Given the description of an element on the screen output the (x, y) to click on. 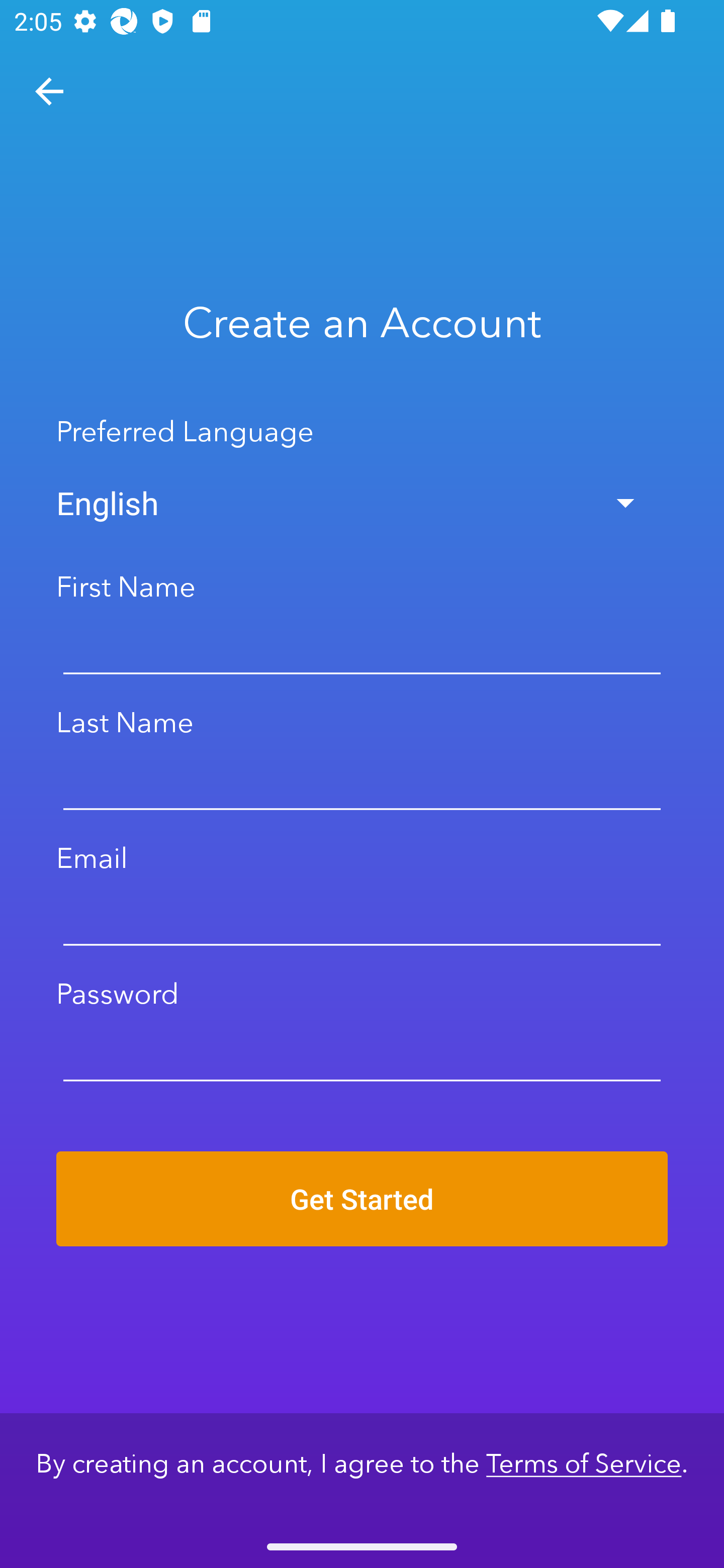
Navigate up (49, 91)
English (361, 502)
Get Started (361, 1198)
